Given the description of an element on the screen output the (x, y) to click on. 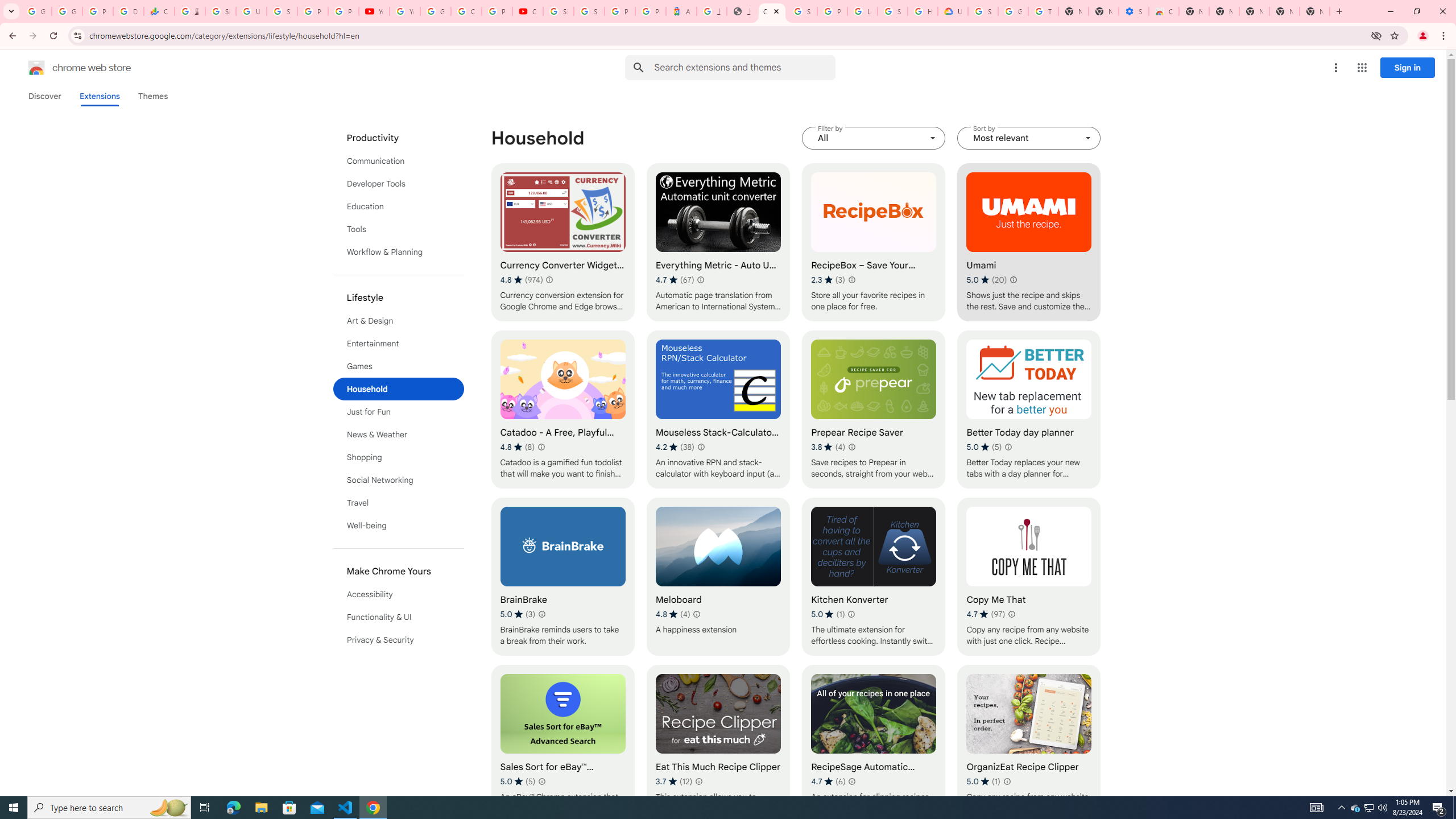
Google Account Help (434, 11)
YouTube (373, 11)
Just for Fun (398, 411)
Average rating 5 out of 5 stars. 3 ratings. (517, 613)
Learn more about results and reviews "Copy Me That" (1010, 613)
Average rating 4.8 out of 5 stars. 974 ratings. (521, 279)
Mouseless Stack-Calculator Ext (718, 409)
Chrome Web Store - Household (771, 11)
Currency Converter Widget - Exchange Rates (562, 241)
Average rating 5 out of 5 stars. 5 ratings. (517, 781)
